Given the description of an element on the screen output the (x, y) to click on. 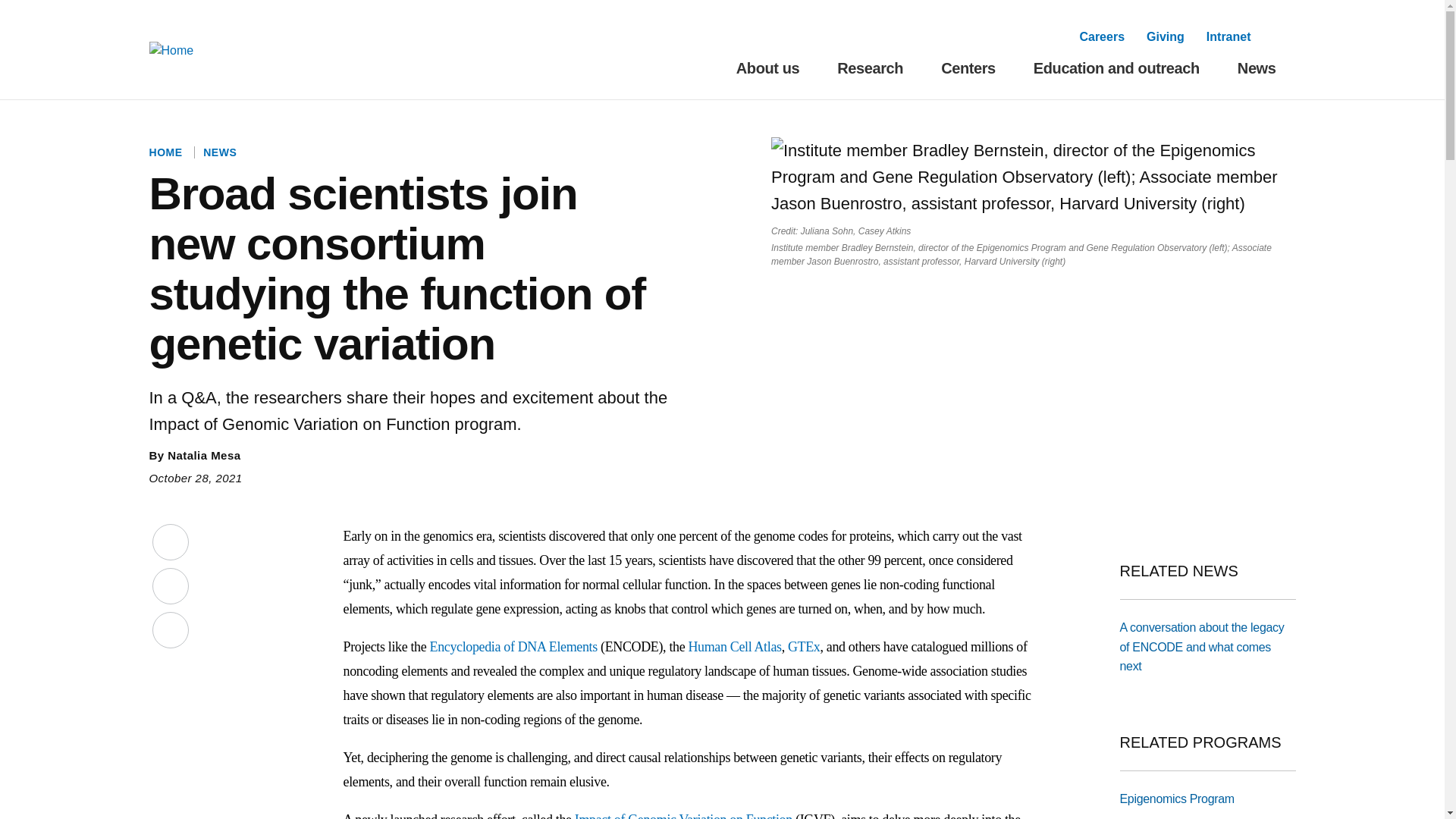
Careers (1101, 36)
Broad Institute Intranet (1228, 36)
Giving (1166, 36)
Intranet (1228, 36)
